Given the description of an element on the screen output the (x, y) to click on. 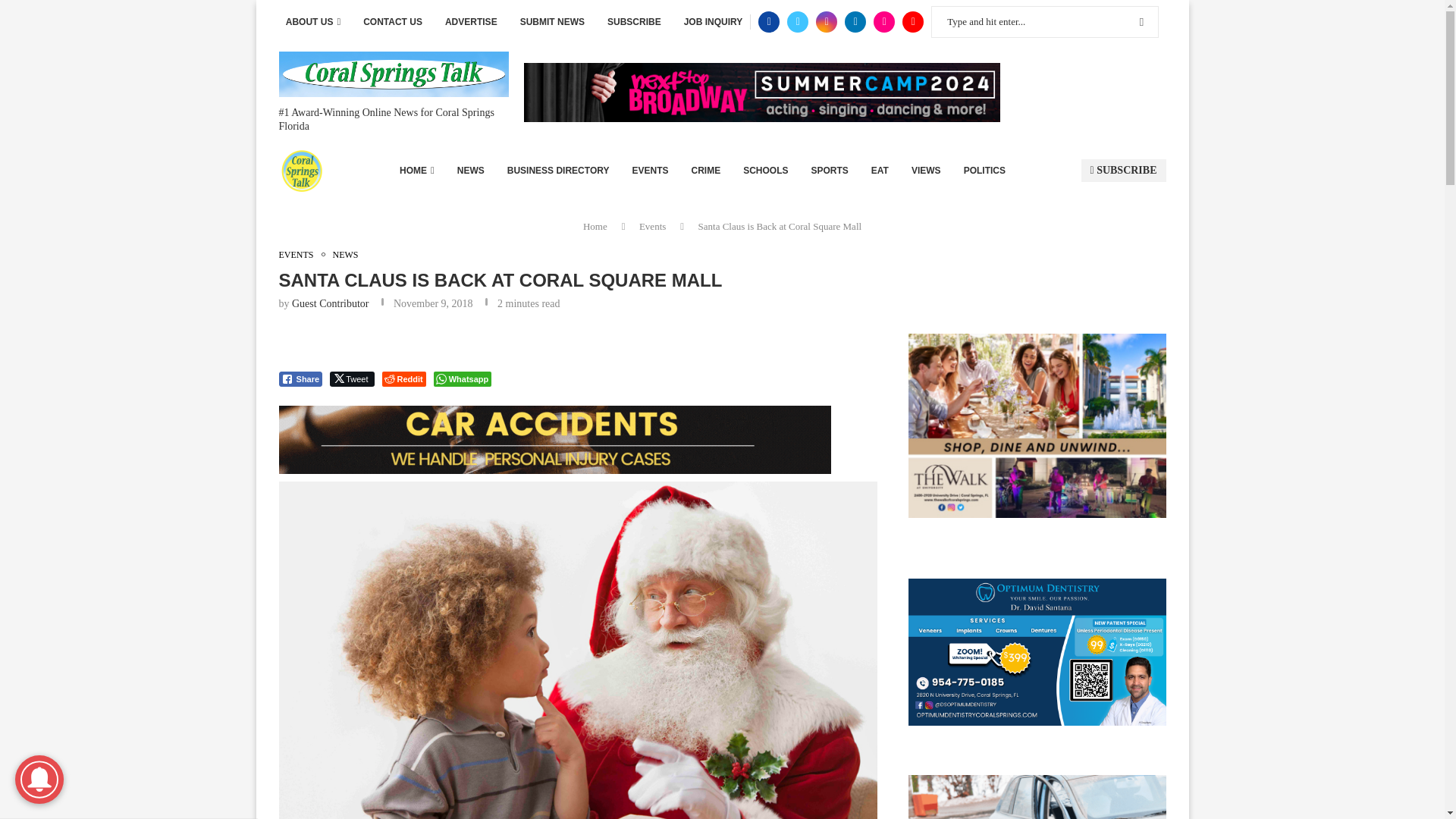
SUBSCRIBE (634, 22)
ABOUT US (312, 22)
BUSINESS DIRECTORY (558, 170)
CONTACT US (392, 22)
SUBMIT NEWS (552, 22)
JOB INQUIRY (713, 22)
ADVERTISE (471, 22)
